Given the description of an element on the screen output the (x, y) to click on. 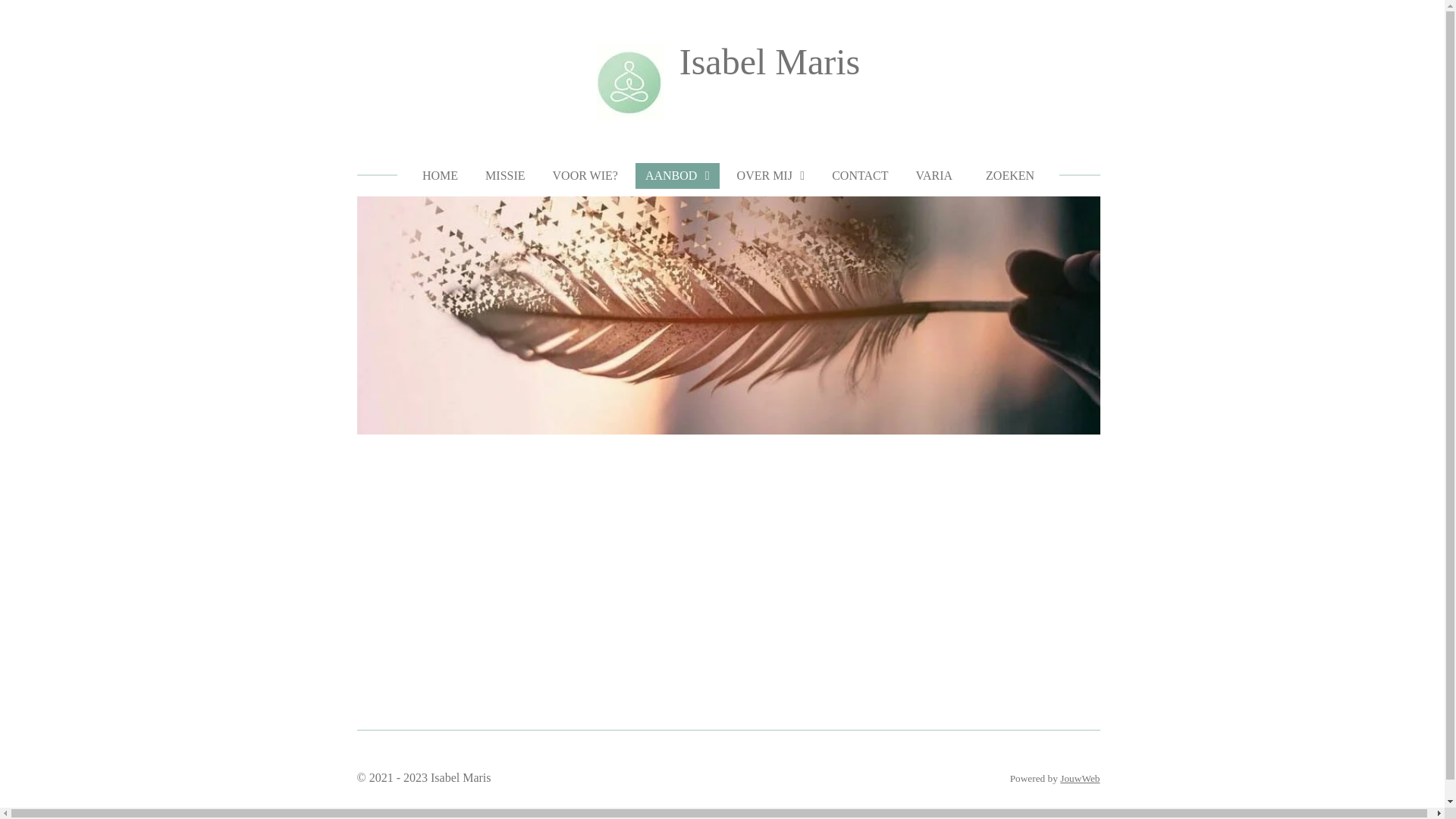
OVER MIJ Element type: text (771, 175)
JouwWeb Element type: text (1079, 778)
CONTACT Element type: text (859, 175)
VOOR WIE? Element type: text (584, 175)
MISSIE Element type: text (504, 175)
AANBOD Element type: text (677, 175)
VARIA Element type: text (933, 175)
Isabel Maris Element type: text (769, 61)
Isabel Maris Element type: hover (630, 81)
HOME Element type: text (439, 175)
ZOEKEN Element type: text (1006, 175)
